Given the description of an element on the screen output the (x, y) to click on. 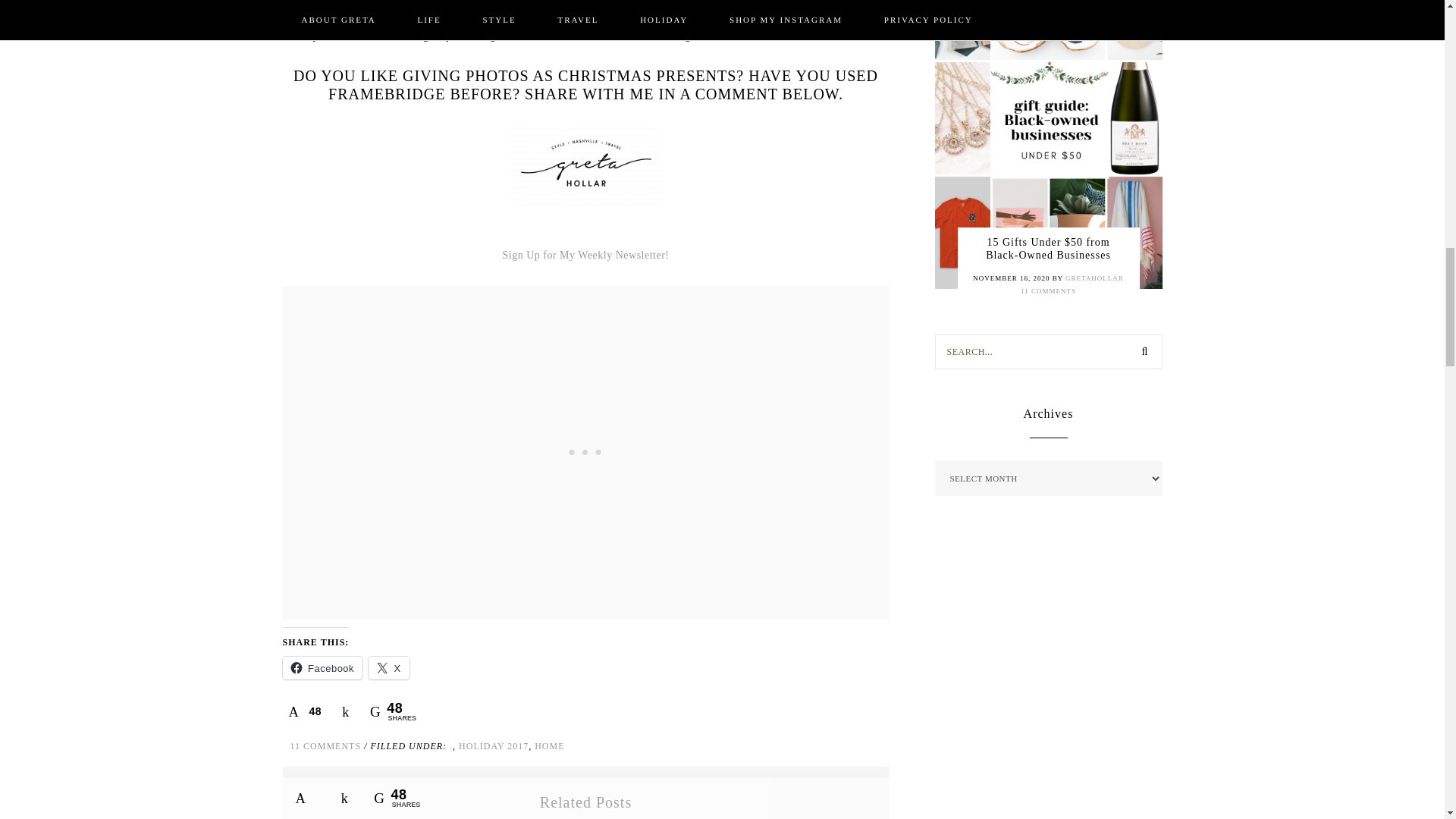
Click to share on Facebook (322, 667)
Click to share on X (388, 667)
